Given the description of an element on the screen output the (x, y) to click on. 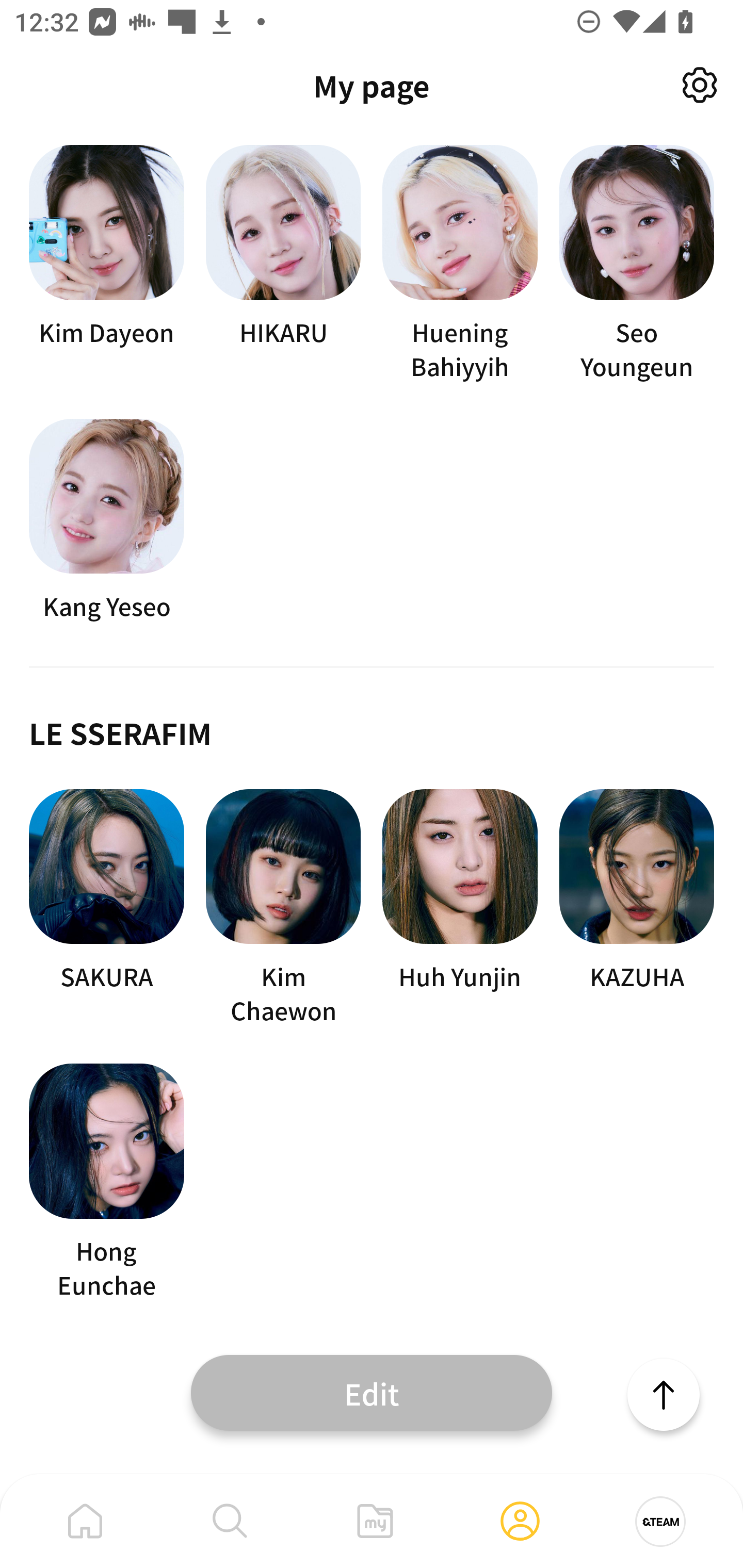
Kim Dayeon (106, 263)
HIKARU (282, 263)
Huening Bahiyyih (459, 263)
Seo Youngeun (636, 263)
Kang Yeseo (106, 520)
SAKURA (106, 907)
Kim Chaewon (282, 907)
Huh Yunjin (459, 907)
KAZUHA (636, 907)
Hong Eunchae (106, 1182)
Edit (371, 1392)
